Given the description of an element on the screen output the (x, y) to click on. 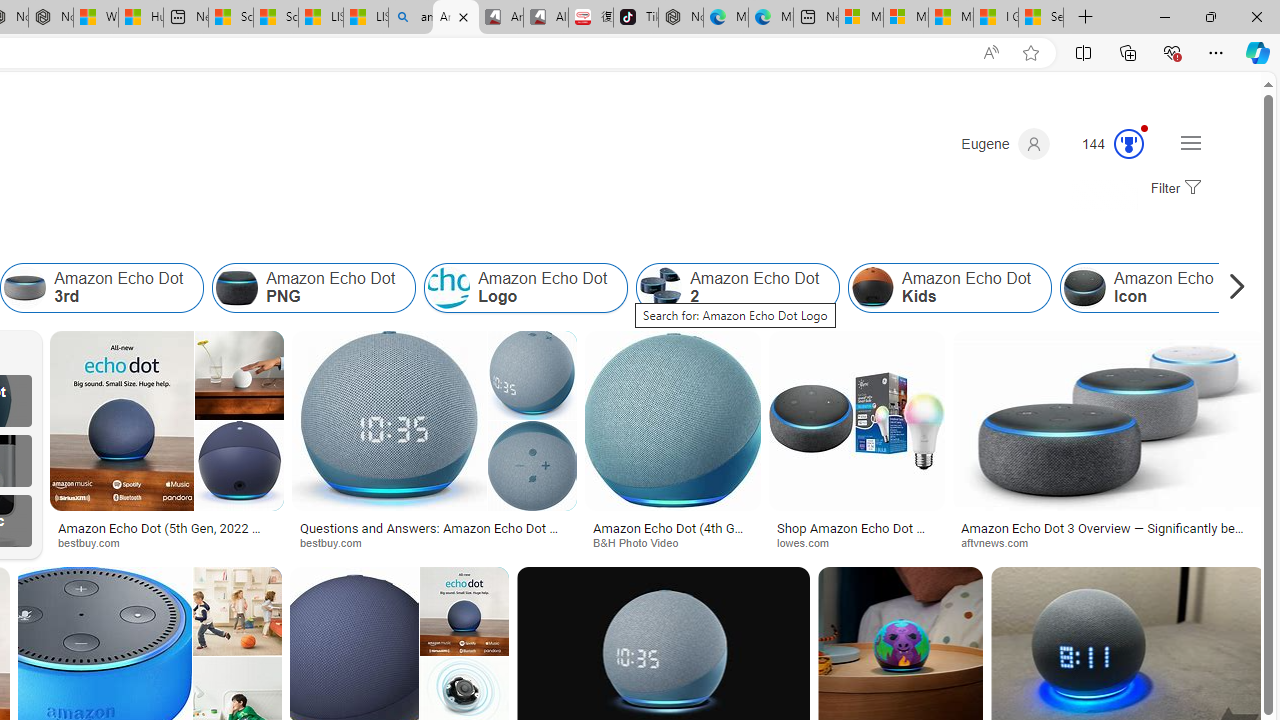
bestbuy.com (337, 541)
B&H Photo Video (672, 542)
Amazon Echo Dot Kids (950, 287)
bestbuy.com (434, 542)
Amazon Echo Dot PNG (237, 287)
Amazon Echo Dot Kids (873, 287)
Amazon Echo Dot 3rd (25, 287)
